Given the description of an element on the screen output the (x, y) to click on. 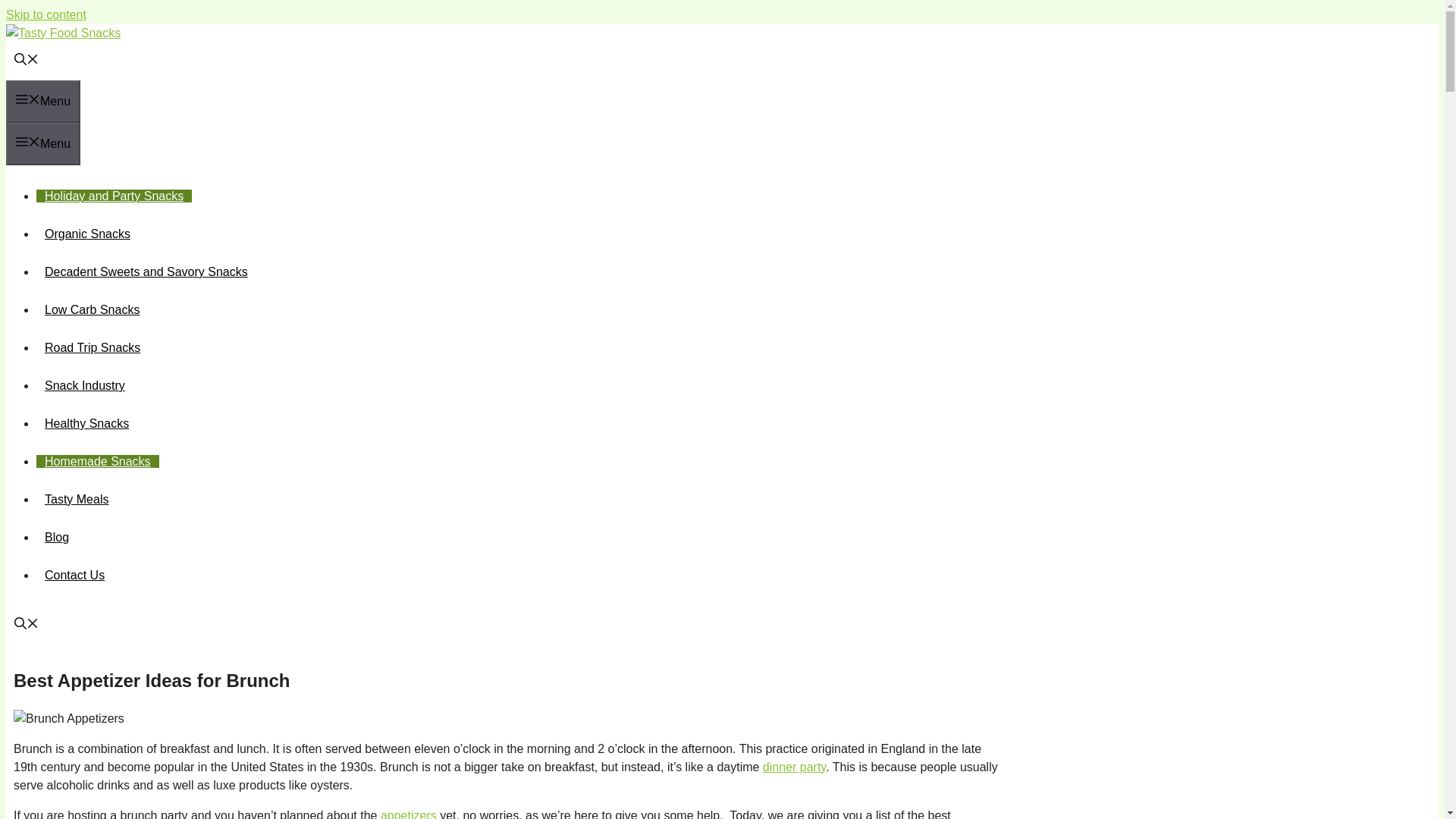
Healthy Snacks (86, 422)
Skip to content (45, 14)
Holiday and Party Snacks (114, 195)
Skip to content (45, 14)
dinner party (793, 766)
Menu (42, 101)
Decadent Sweets and Savory Snacks (146, 271)
Homemade Snacks (97, 461)
Contact Us (74, 574)
appetizers (408, 814)
Road Trip Snacks (92, 347)
Low Carb Snacks (92, 309)
Menu (42, 143)
Blog (56, 536)
Tasty Meals (76, 499)
